Given the description of an element on the screen output the (x, y) to click on. 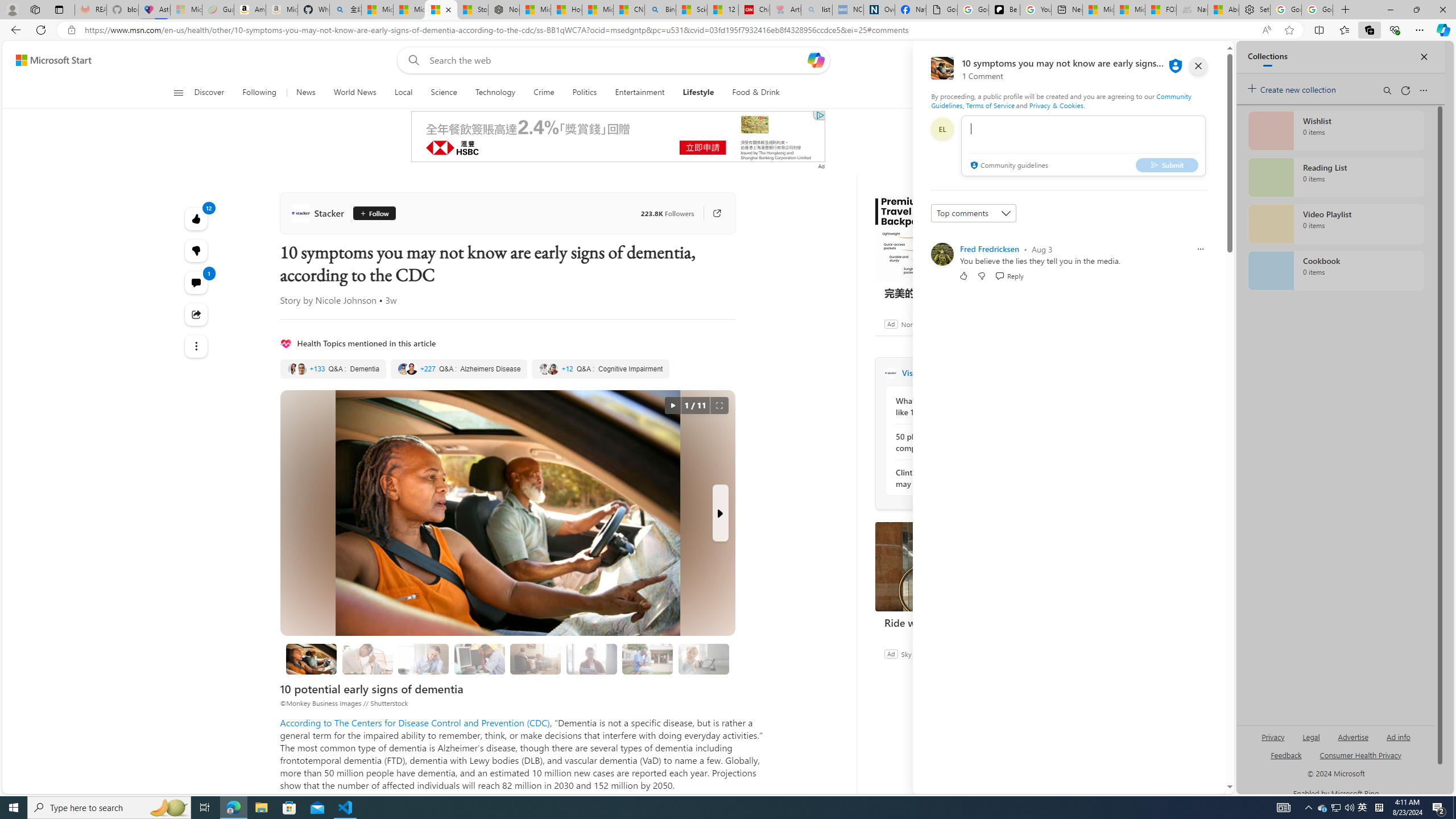
Crime (543, 92)
Terms of Service (989, 104)
FOX News - MSN (1160, 9)
See more (196, 345)
Trouble understanding visual images and spatial relations (591, 658)
list of asthma inhalers uk - Search - Sleeping (816, 9)
Food & Drink (751, 92)
Challenges in planning or solving problems (423, 658)
Fred Fredricksen (989, 248)
Challenges in planning or solving problems (423, 659)
